Given the description of an element on the screen output the (x, y) to click on. 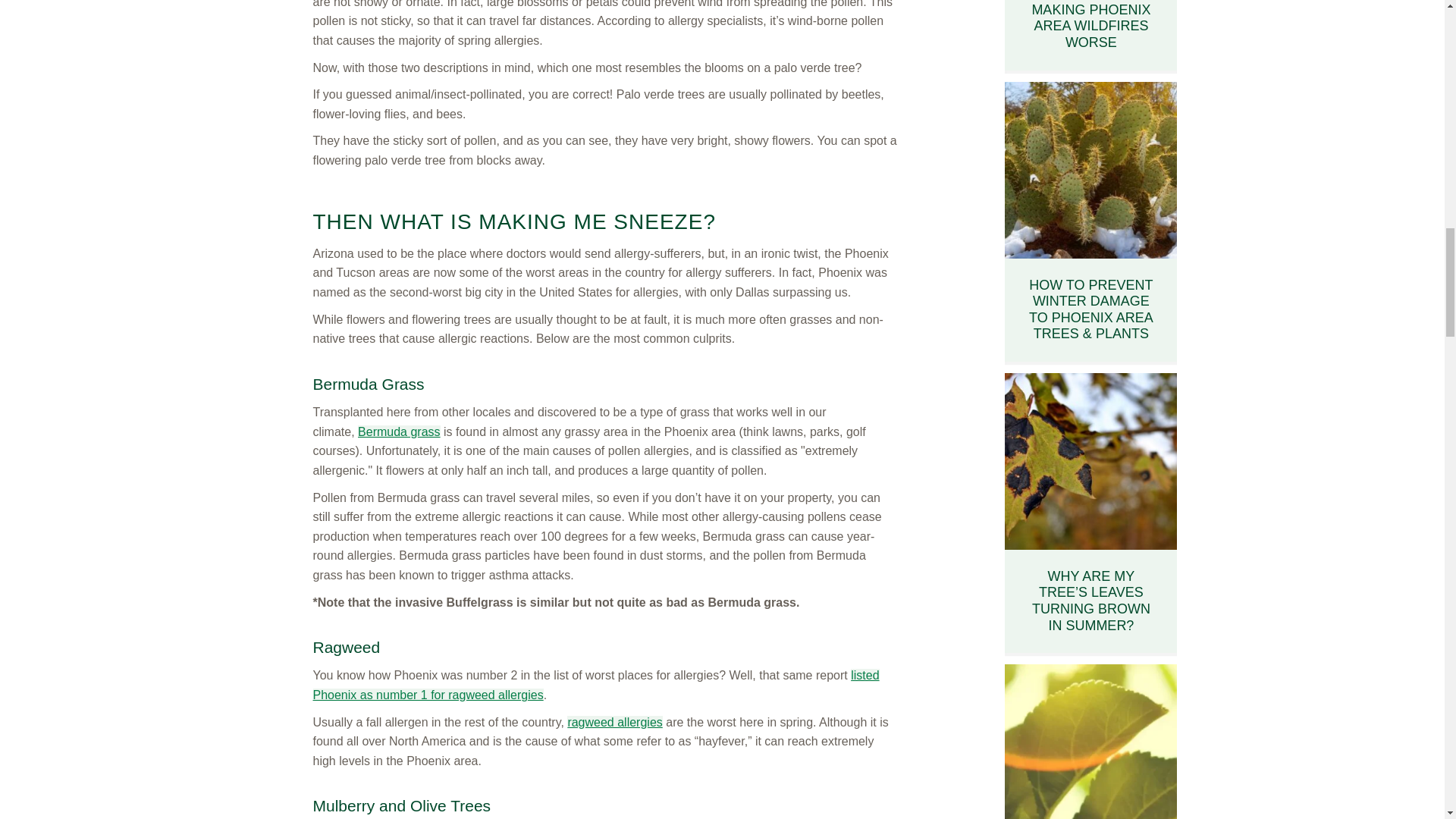
ragweed facts (614, 721)
Bermuda grass (399, 431)
ragweed allergy facts (596, 685)
